Given the description of an element on the screen output the (x, y) to click on. 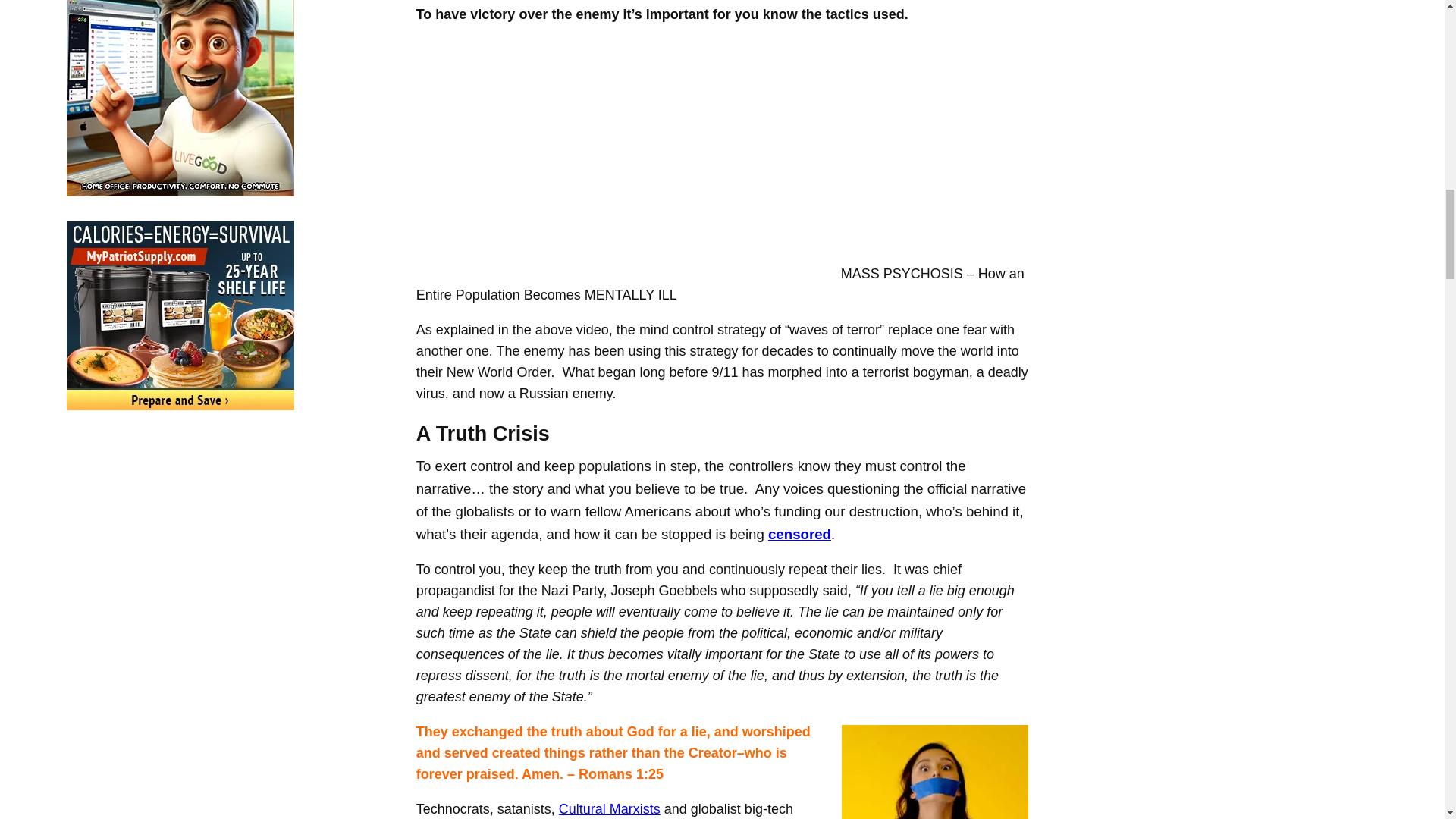
censored (799, 534)
YouTube video player (628, 158)
Cultural Marxists (610, 808)
